Given the description of an element on the screen output the (x, y) to click on. 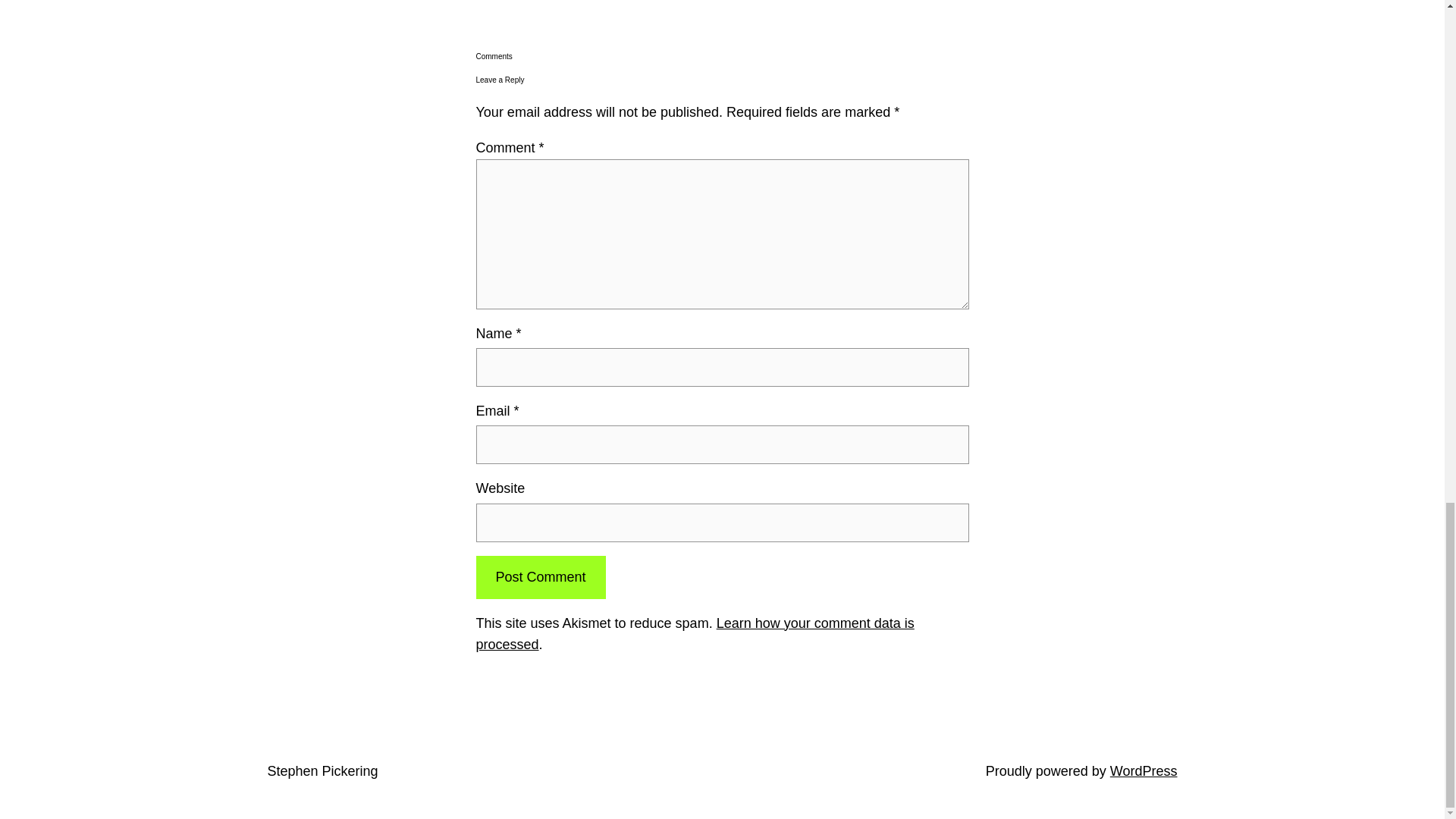
Stephen Pickering (321, 770)
WordPress (1143, 770)
Learn how your comment data is processed (695, 633)
Post Comment (540, 577)
Post Comment (540, 577)
